Given the description of an element on the screen output the (x, y) to click on. 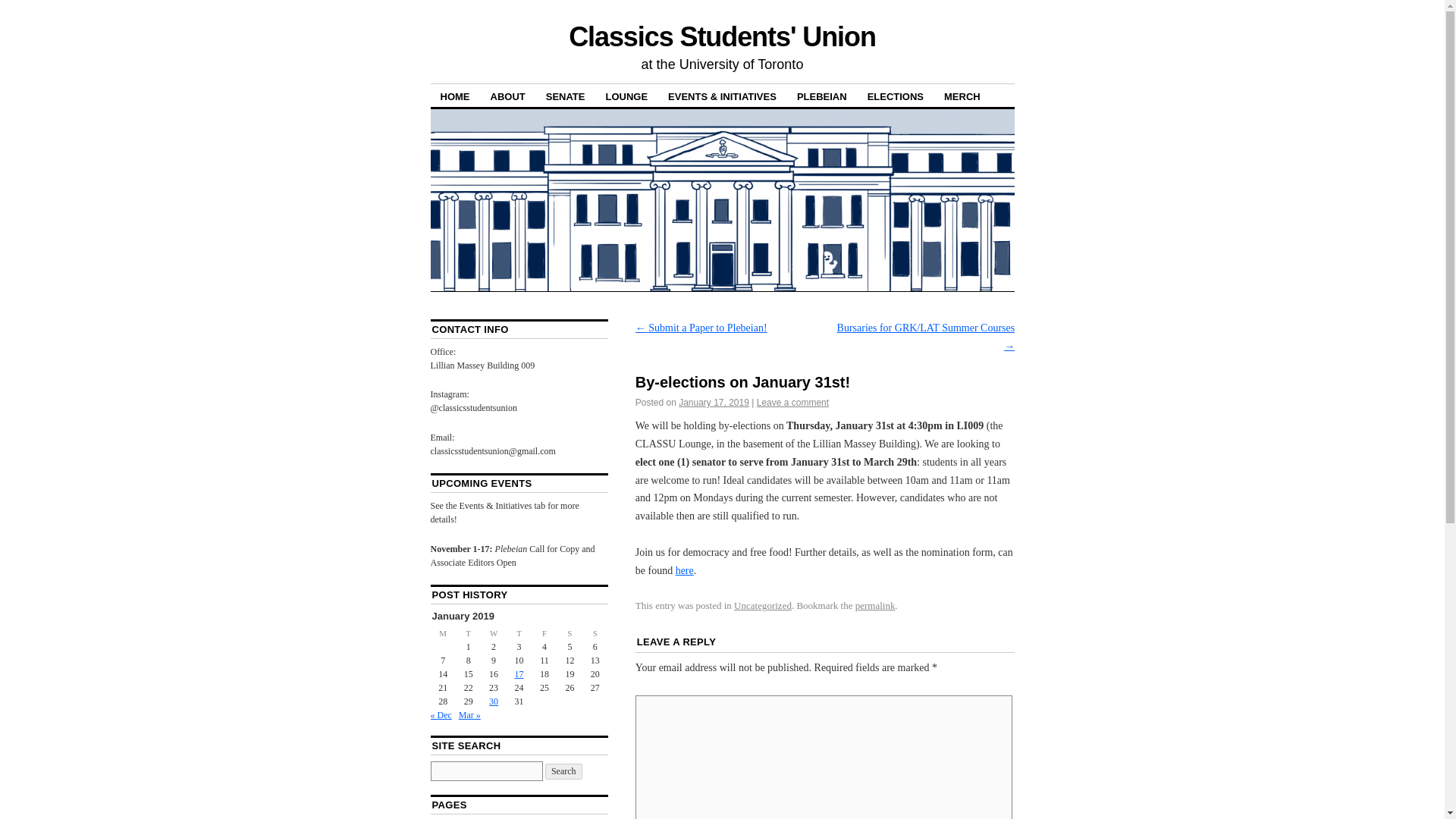
here (684, 570)
Search (563, 771)
Friday (543, 632)
Wednesday (492, 632)
12:19 PM (713, 402)
SENATE (565, 96)
ABOUT (507, 96)
ELECTIONS (895, 96)
Saturday (569, 632)
HOME (455, 96)
